Given the description of an element on the screen output the (x, y) to click on. 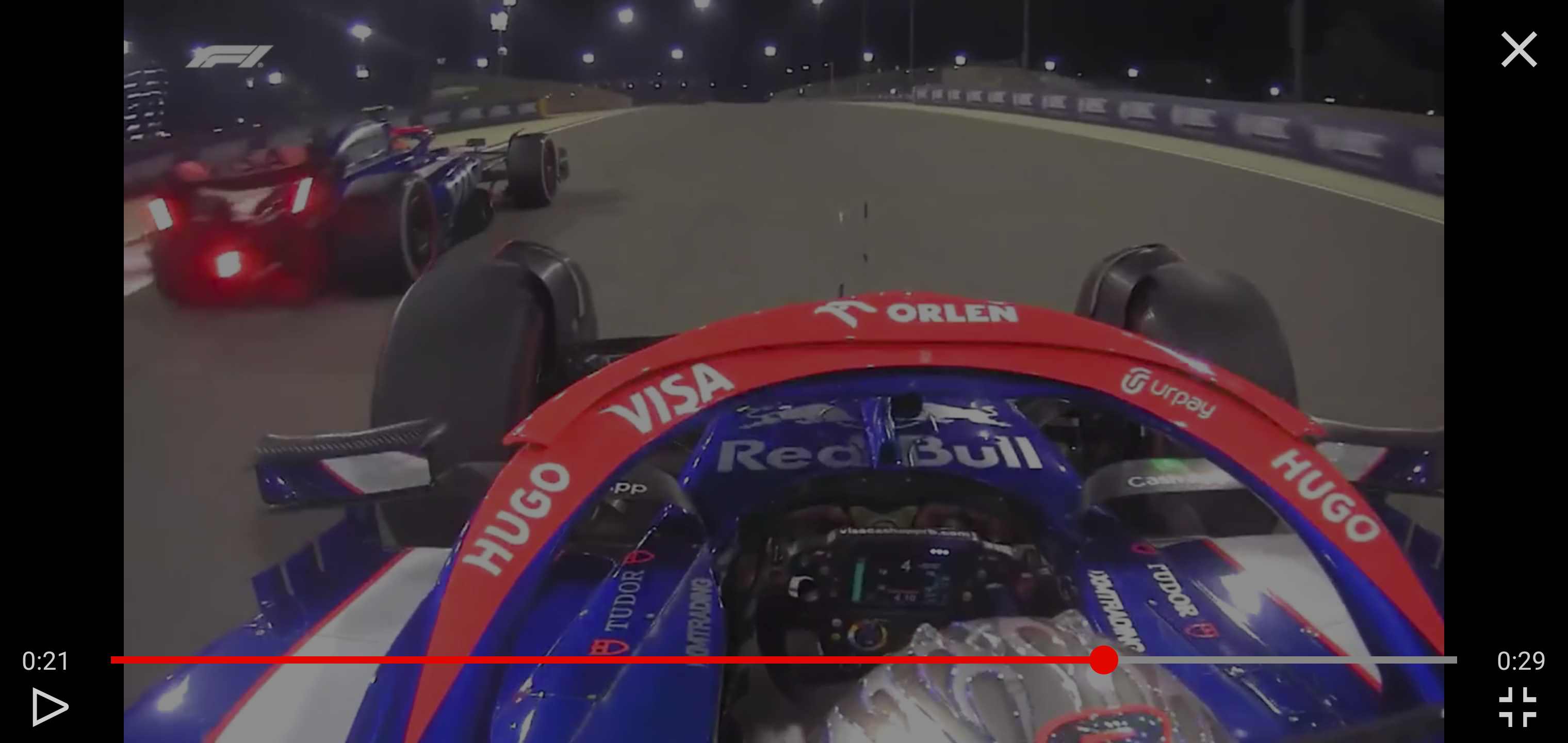
 Close (1518, 49)
A Play (50, 706)
D Exit Fullscreen (1517, 706)
